Given the description of an element on the screen output the (x, y) to click on. 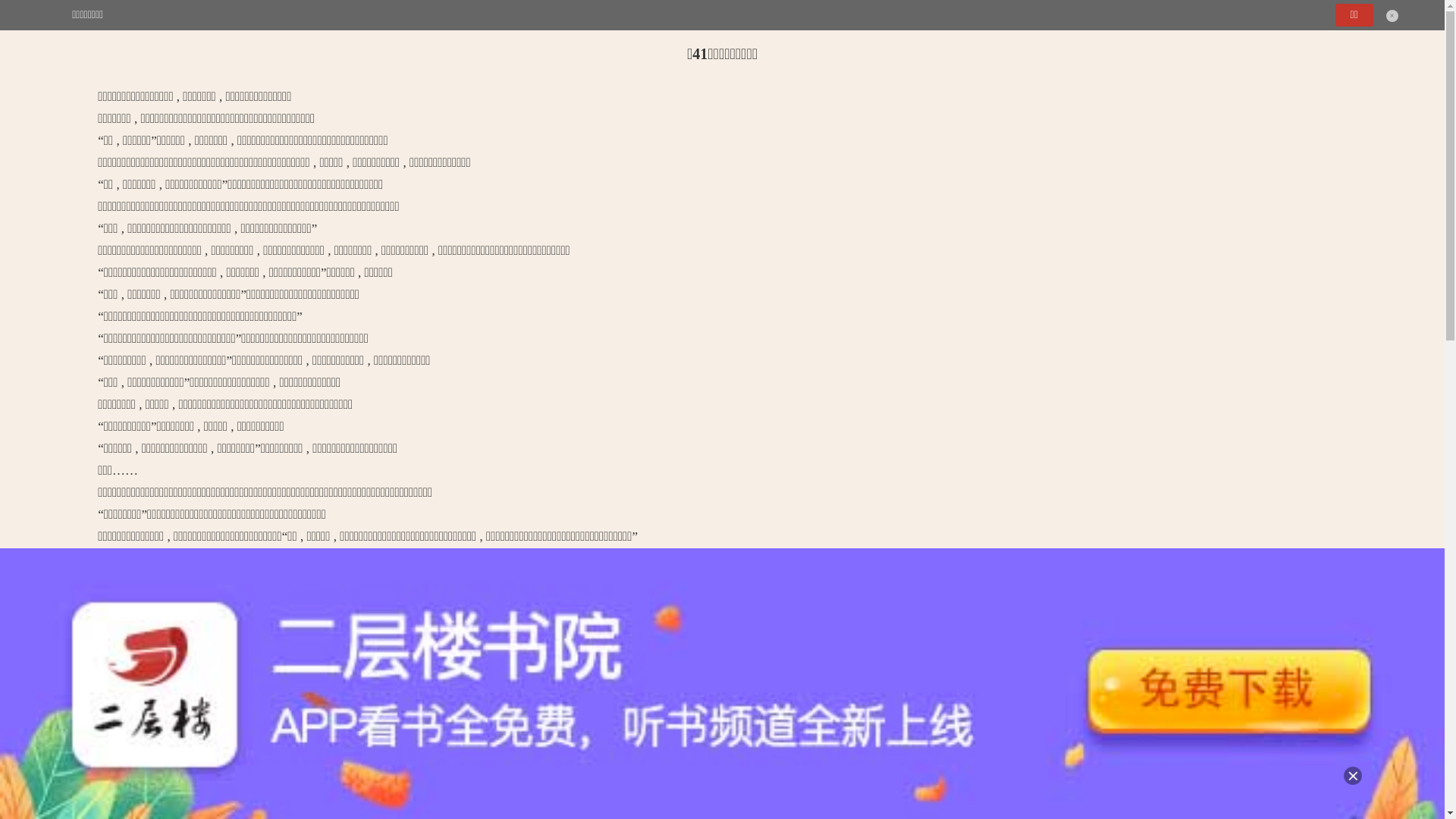
> Element type: text (83, 14)
